Given the description of an element on the screen output the (x, y) to click on. 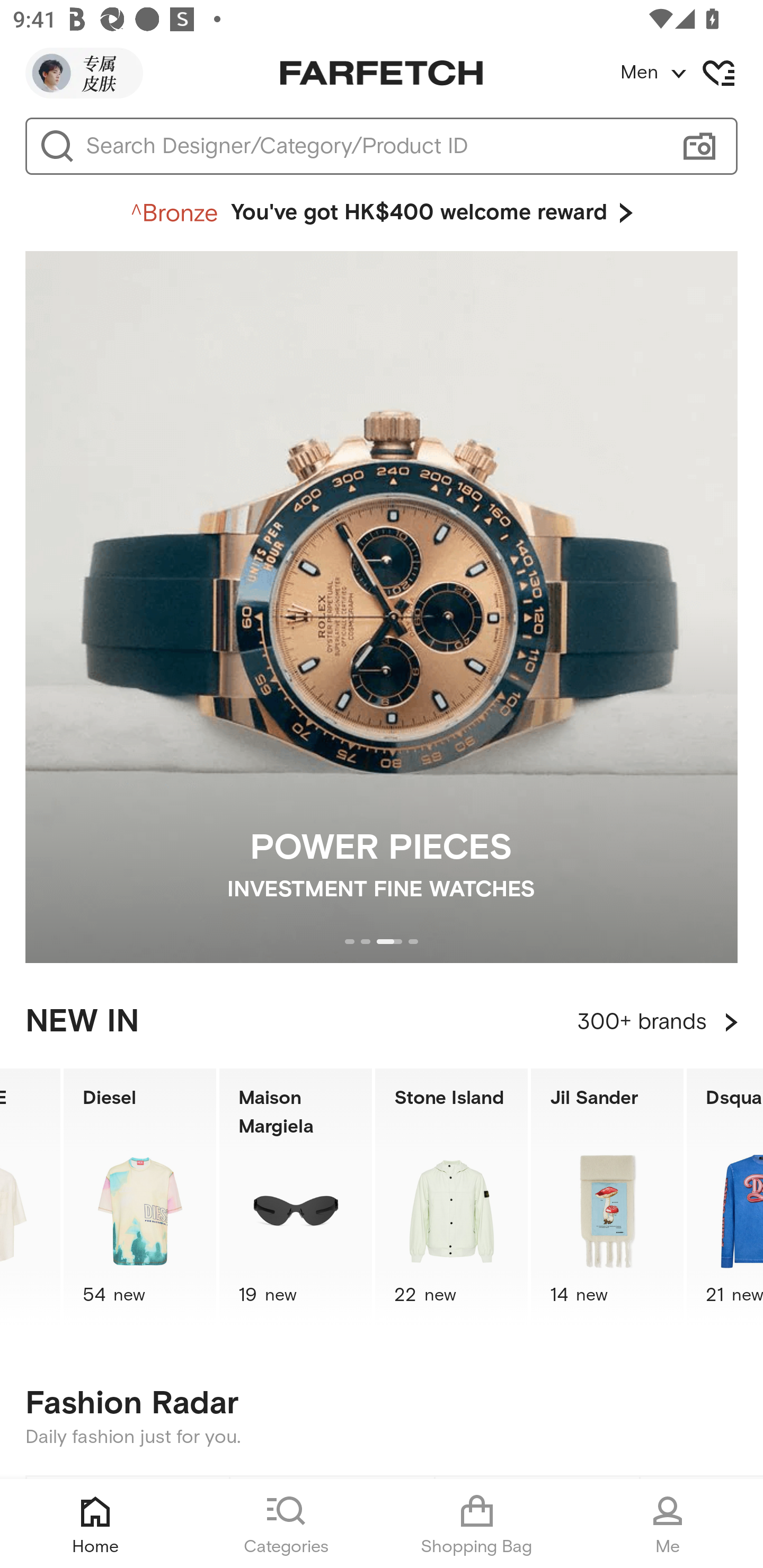
Men (691, 72)
Search Designer/Category/Product ID (373, 146)
You've got HK$400 welcome reward (381, 213)
NEW IN 300+ brands (381, 1021)
Diesel 54  new (139, 1196)
Maison Margiela 19  new (295, 1196)
Stone Island 22  new (451, 1196)
Jil Sander 14  new (607, 1196)
Categories (285, 1523)
Shopping Bag (476, 1523)
Me (667, 1523)
